Given the description of an element on the screen output the (x, y) to click on. 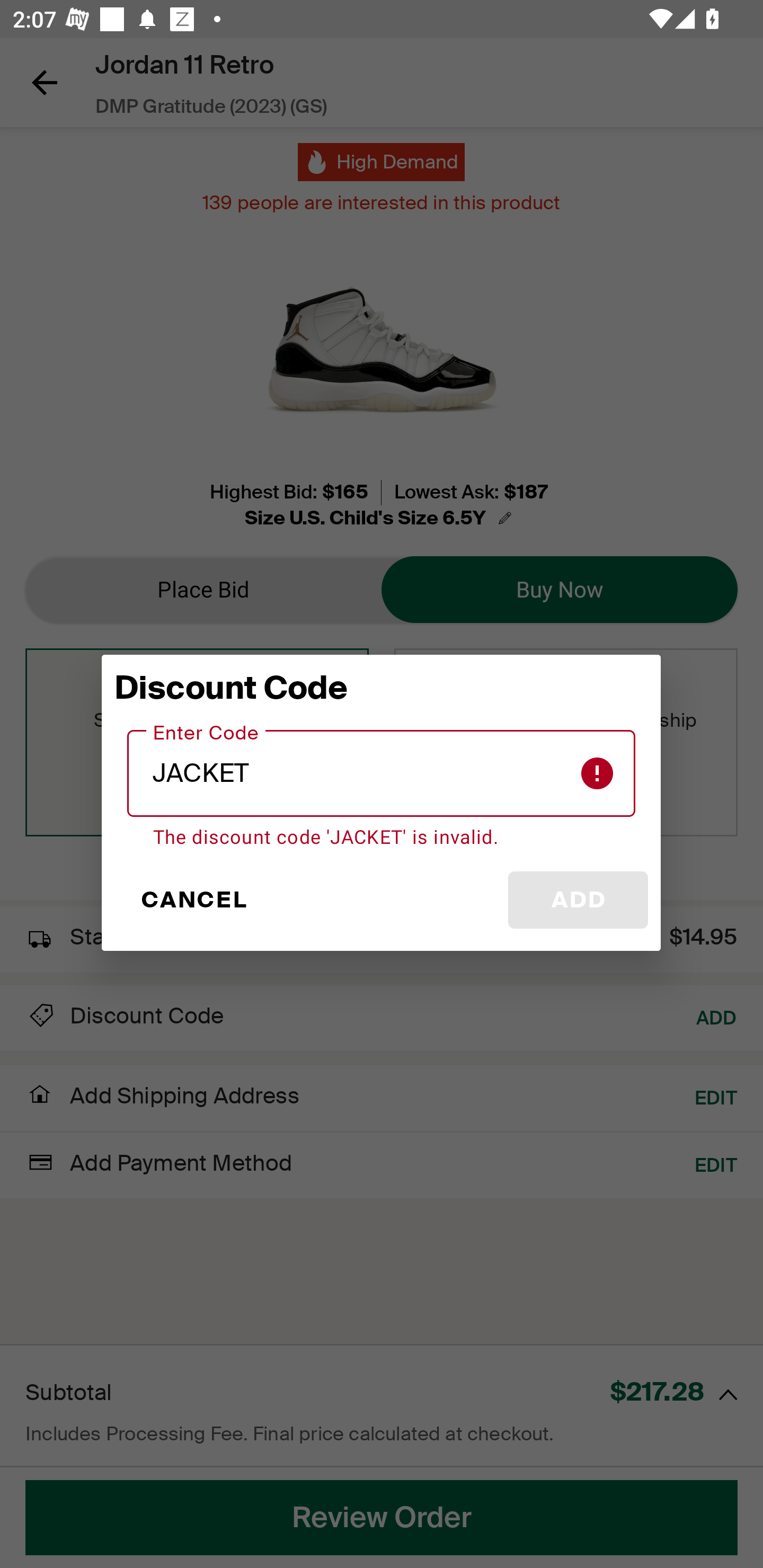
JACKET (381, 773)
CANCEL (193, 899)
ADD (577, 899)
